Given the description of an element on the screen output the (x, y) to click on. 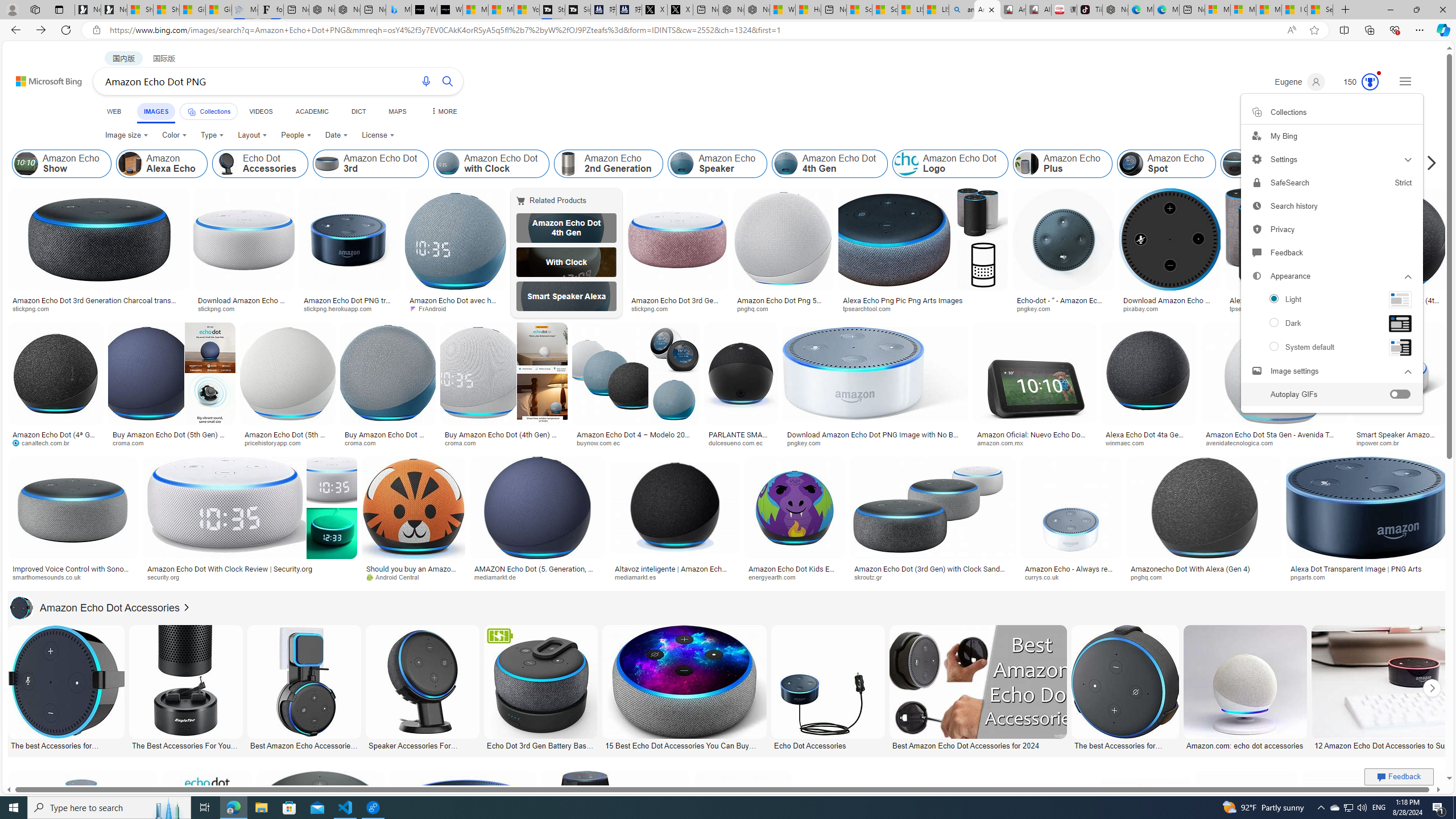
Eugene (1299, 81)
Android Central (413, 576)
Click to scroll right (1431, 687)
Echo Dot Generations (1388, 163)
buynow.com.ec (635, 442)
What's the best AI voice generator? - voice.ai (449, 9)
Amazon Echo Show (25, 163)
